Given the description of an element on the screen output the (x, y) to click on. 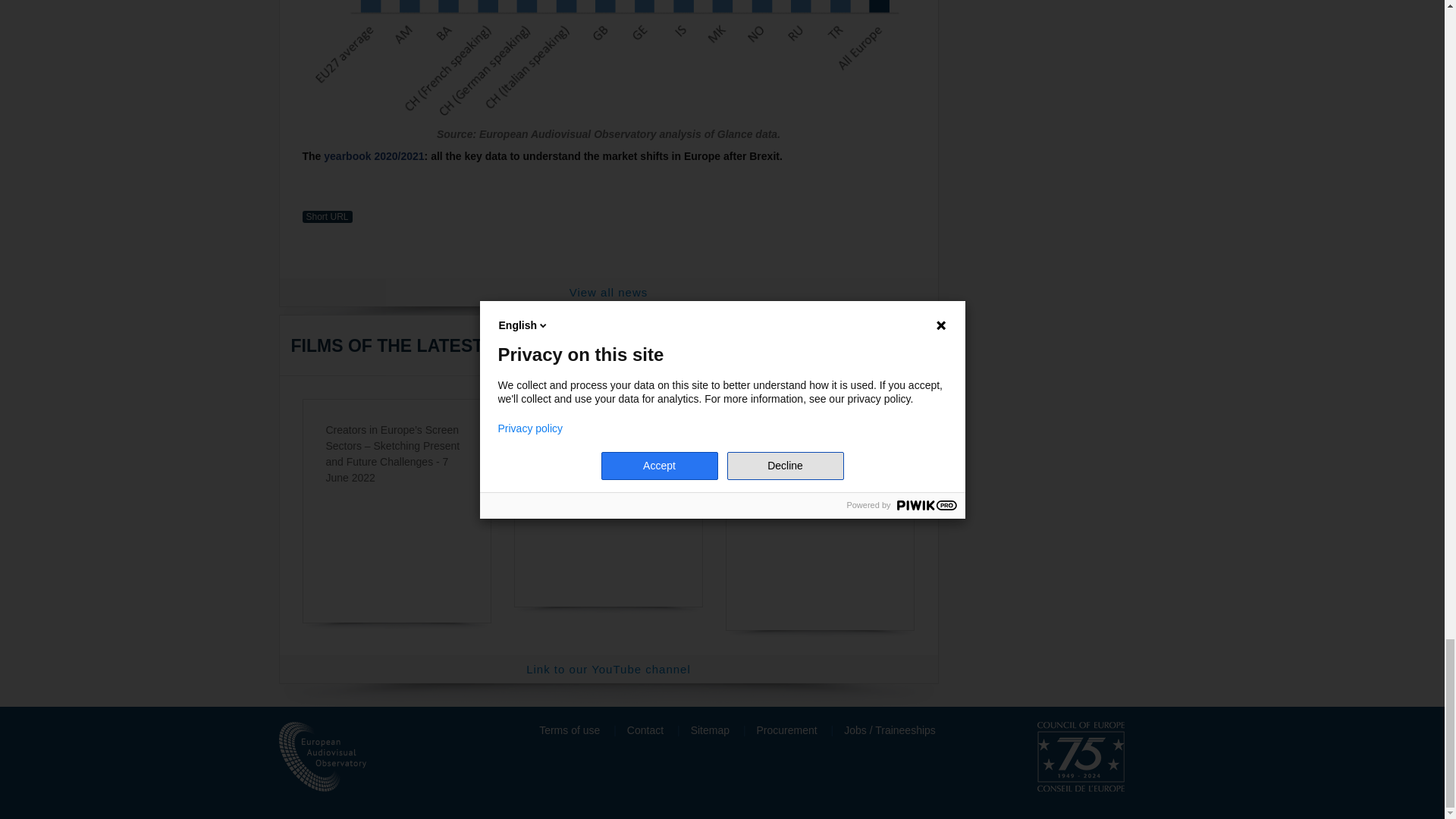
YouTube video player (608, 524)
YouTube video player (820, 524)
